Given the description of an element on the screen output the (x, y) to click on. 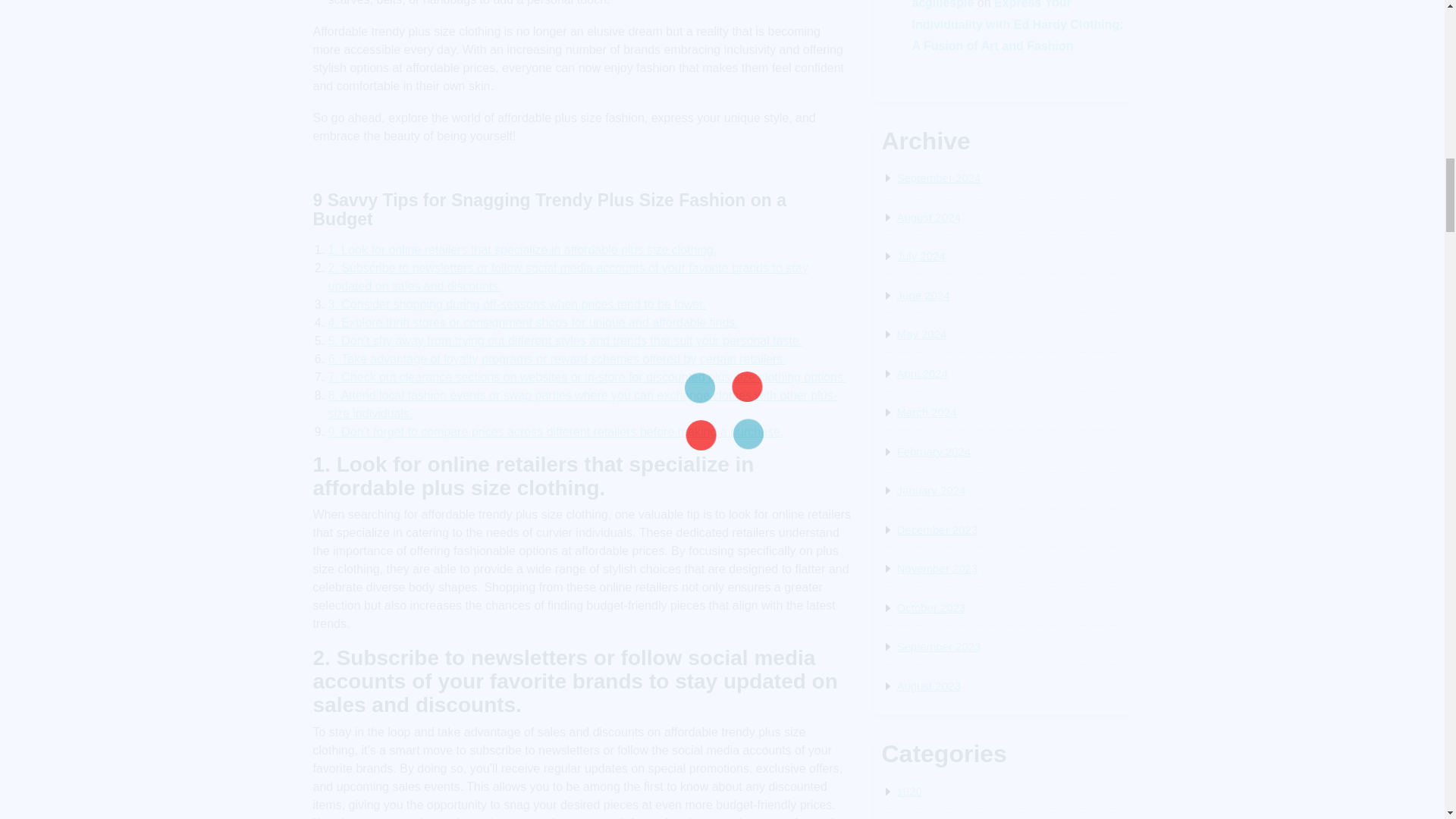
August 2024 (927, 216)
acgillespie (942, 4)
